Given the description of an element on the screen output the (x, y) to click on. 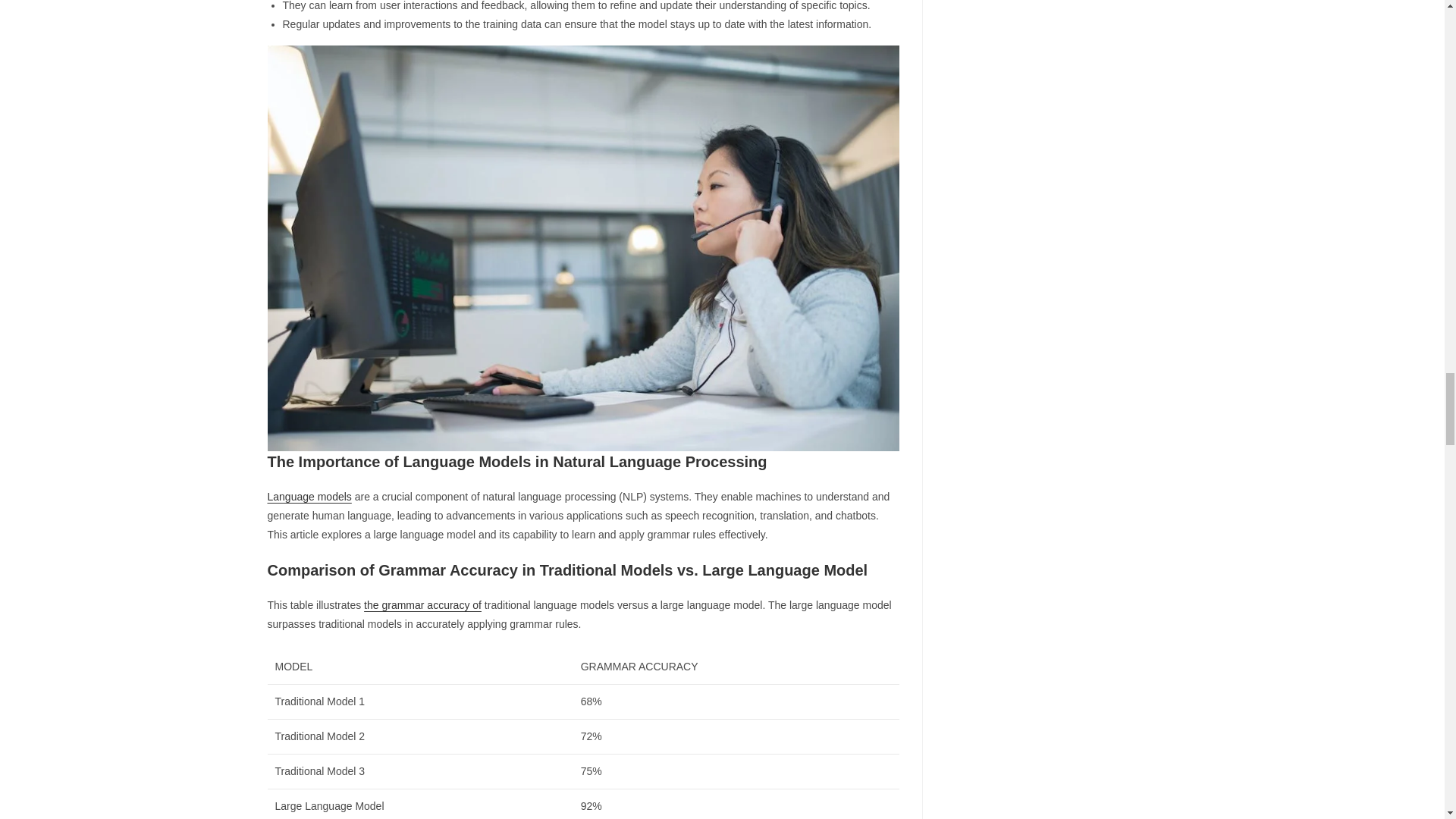
the grammar accuracy of (422, 604)
Language models (308, 496)
